Given the description of an element on the screen output the (x, y) to click on. 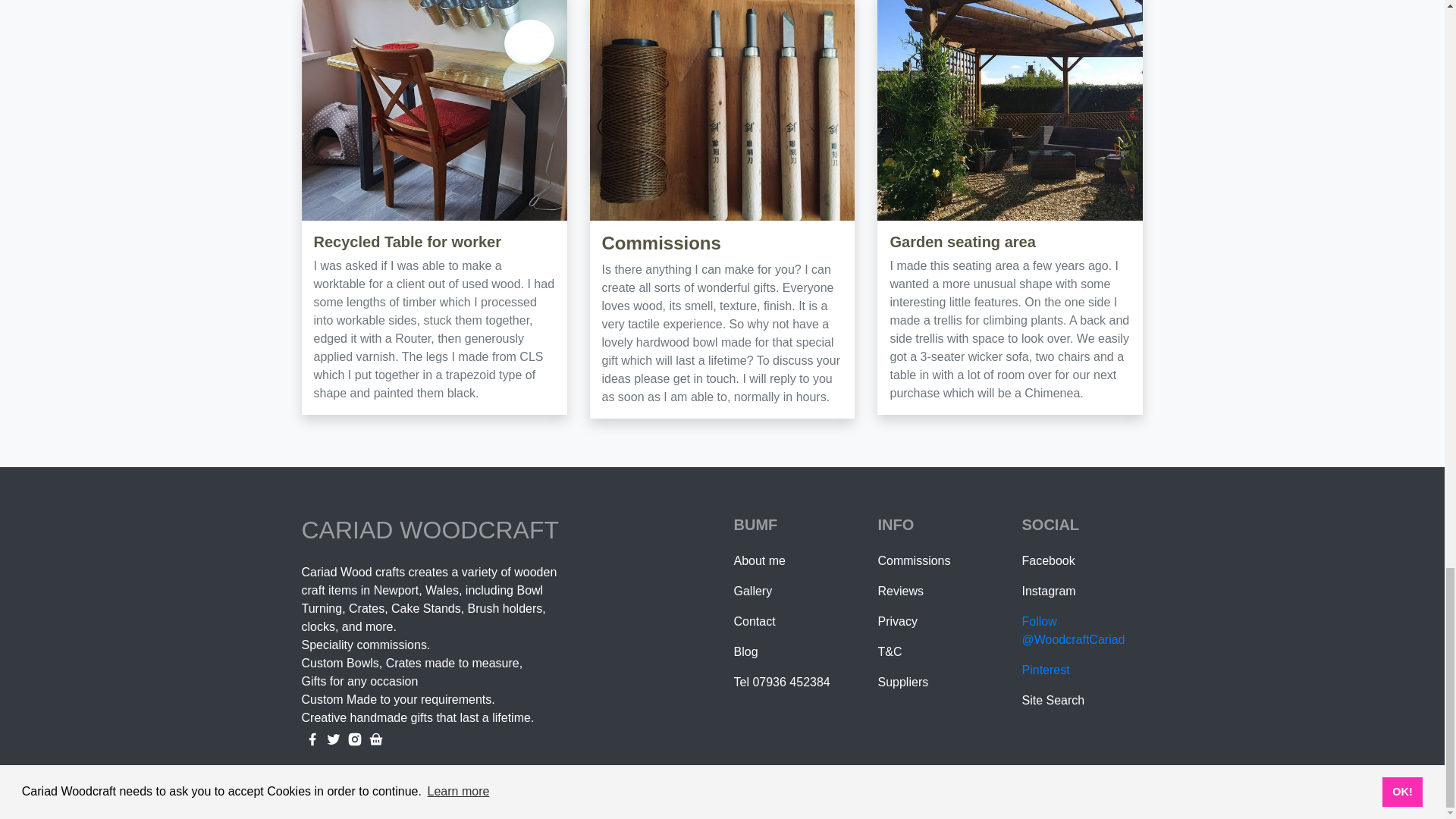
CARIAD WOODCRAFT (430, 529)
